Given the description of an element on the screen output the (x, y) to click on. 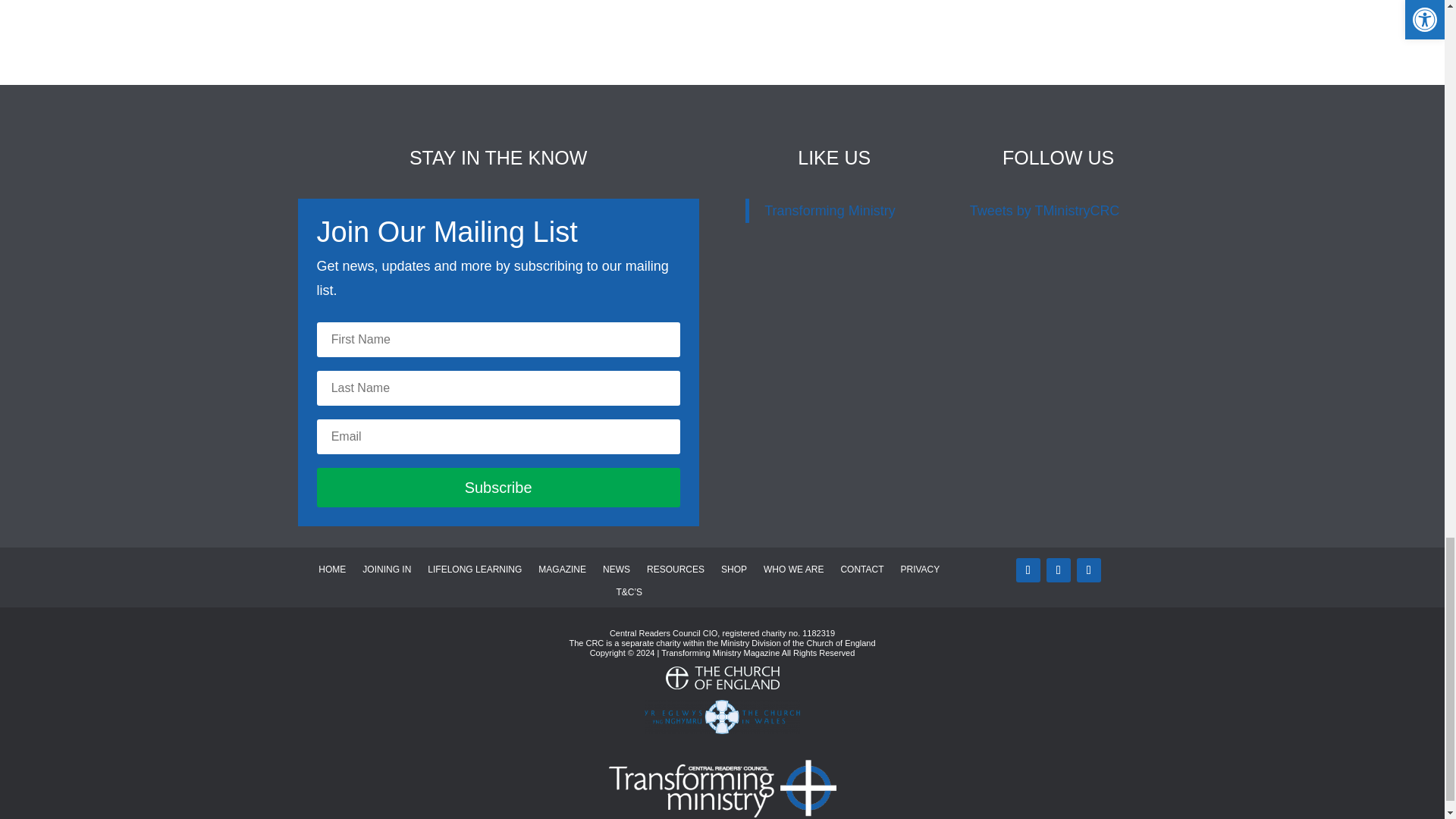
Follow on Instagram (1088, 569)
Follow on Facebook (1058, 569)
Follow on Twitter (1028, 569)
